Given the description of an element on the screen output the (x, y) to click on. 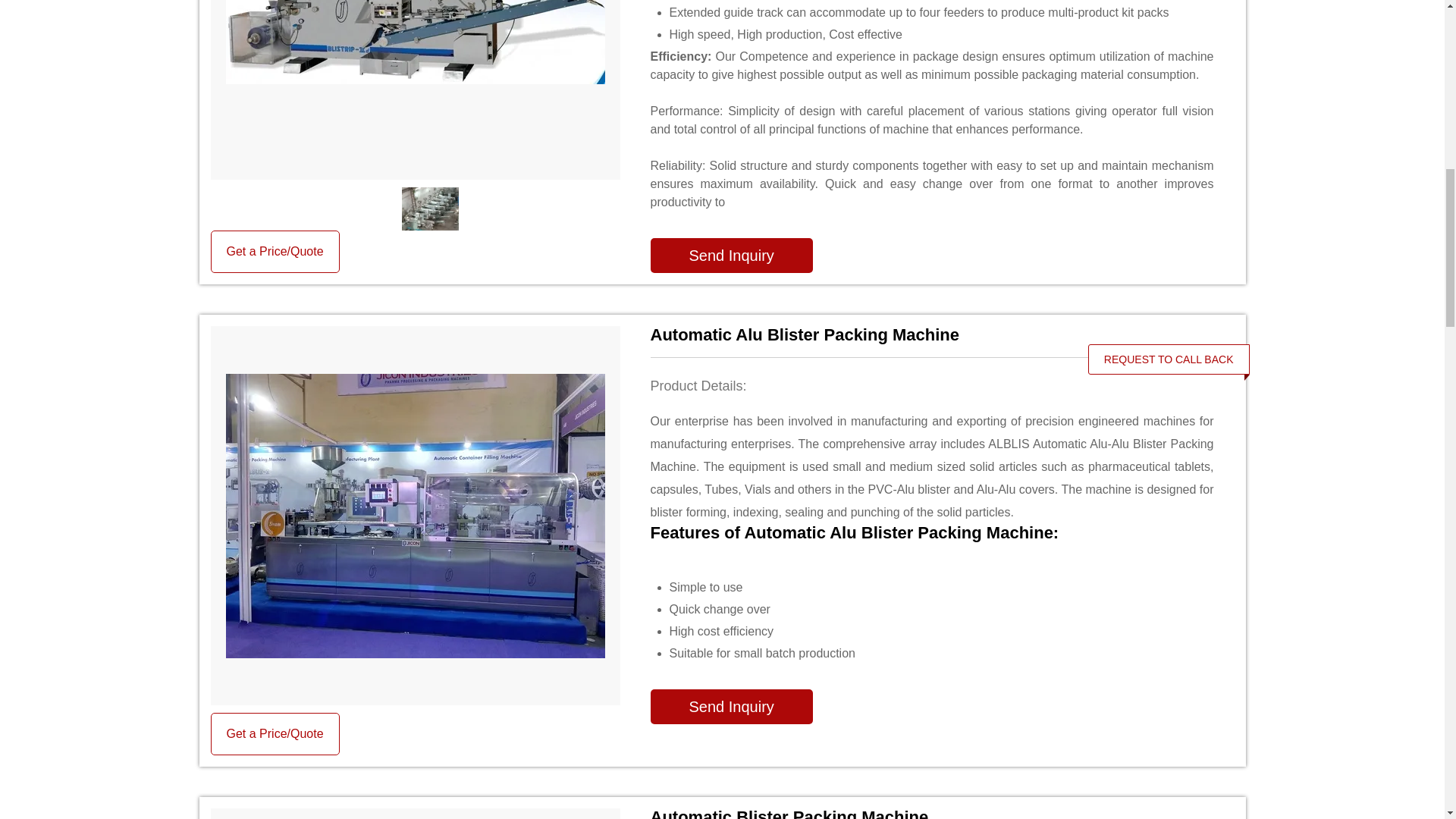
Automatic Blister Packing Machine (932, 813)
REQUEST TO CALL BACK (1169, 358)
Send Inquiry (731, 255)
Automatic Alu Blister Packing Machine (932, 334)
Send Inquiry (731, 706)
